Given the description of an element on the screen output the (x, y) to click on. 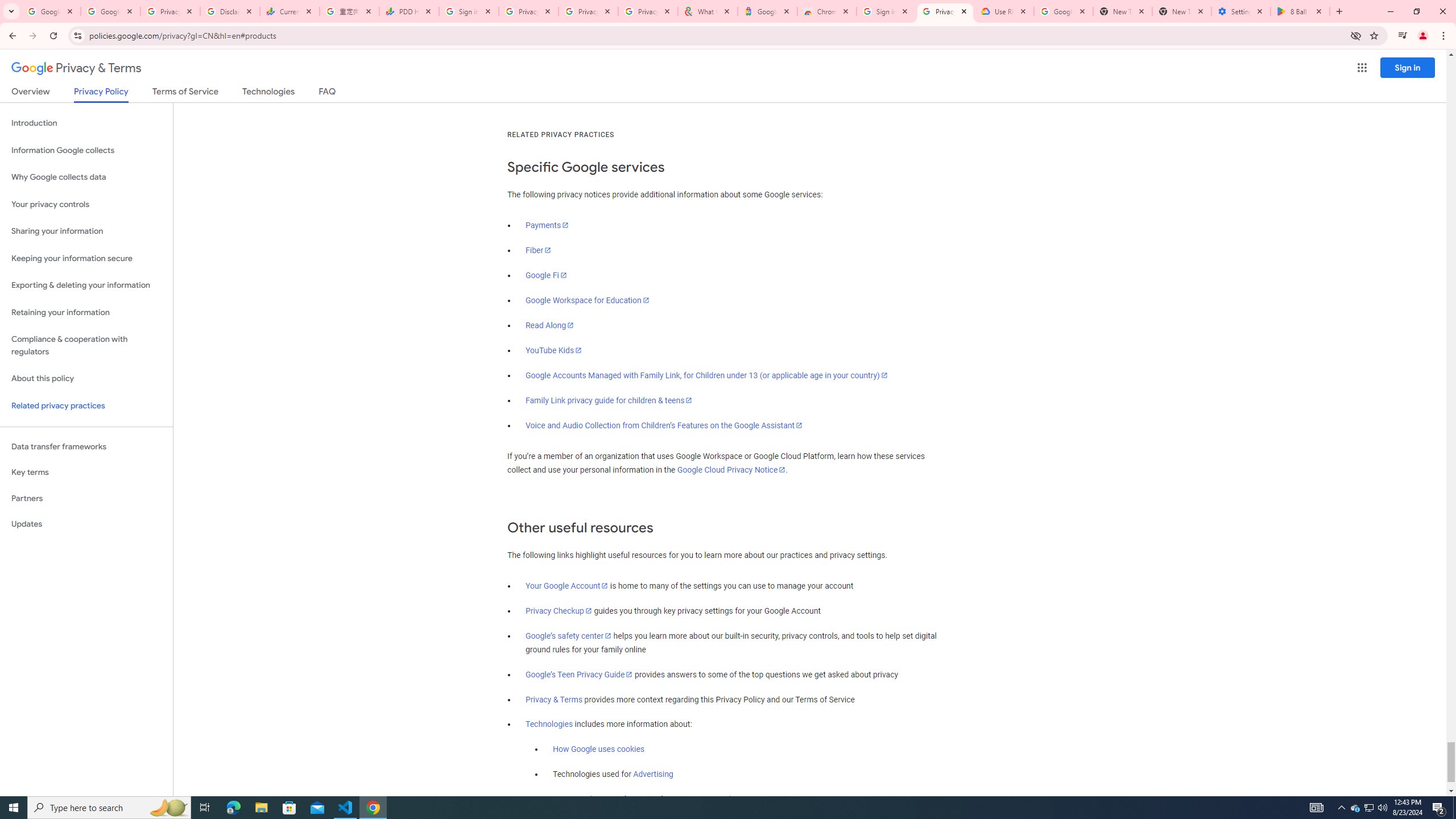
Currencies - Google Finance (289, 11)
YouTube Kids (553, 350)
Information Google collects (86, 150)
